Given the description of an element on the screen output the (x, y) to click on. 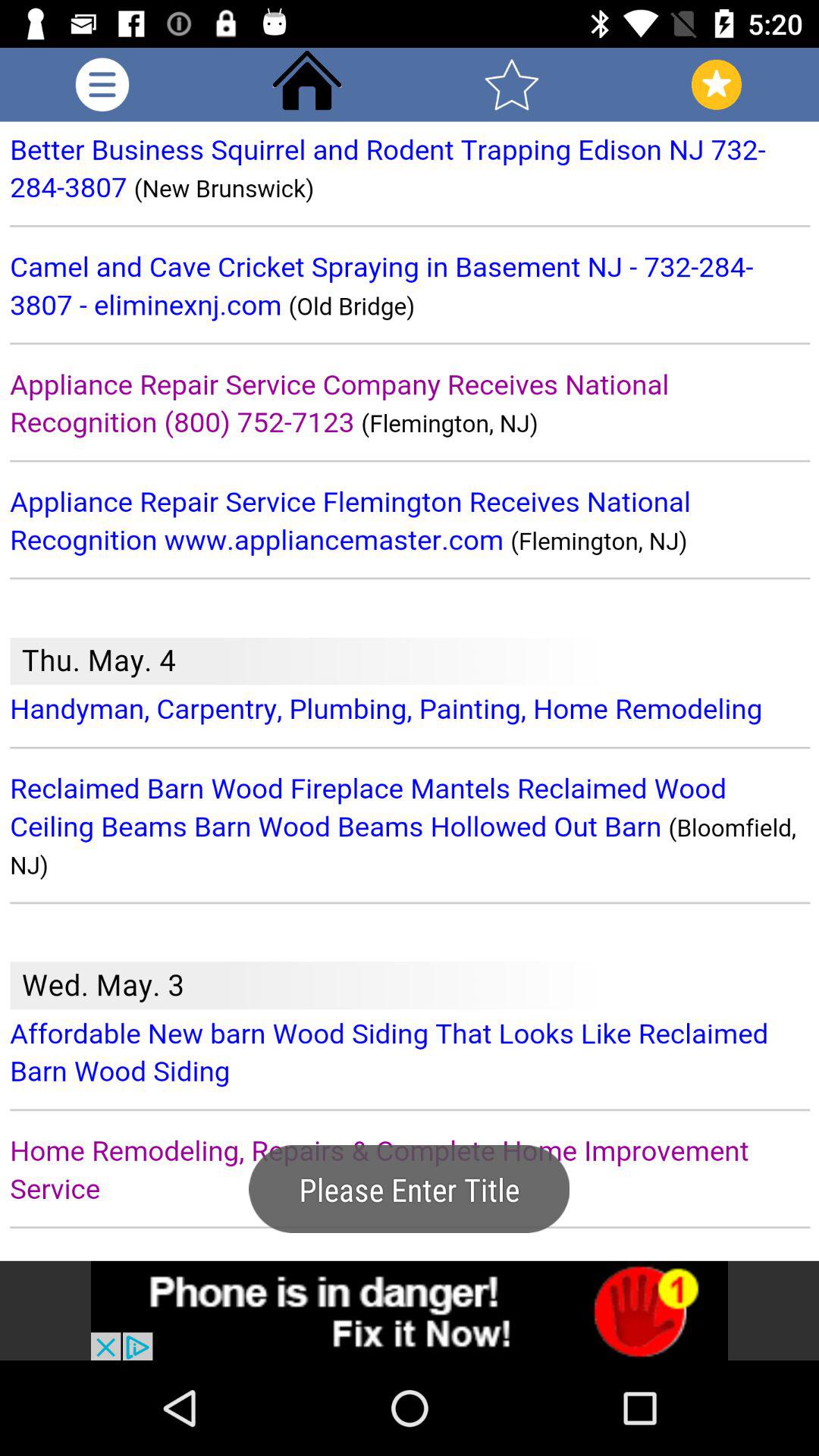
option (102, 84)
